Given the description of an element on the screen output the (x, y) to click on. 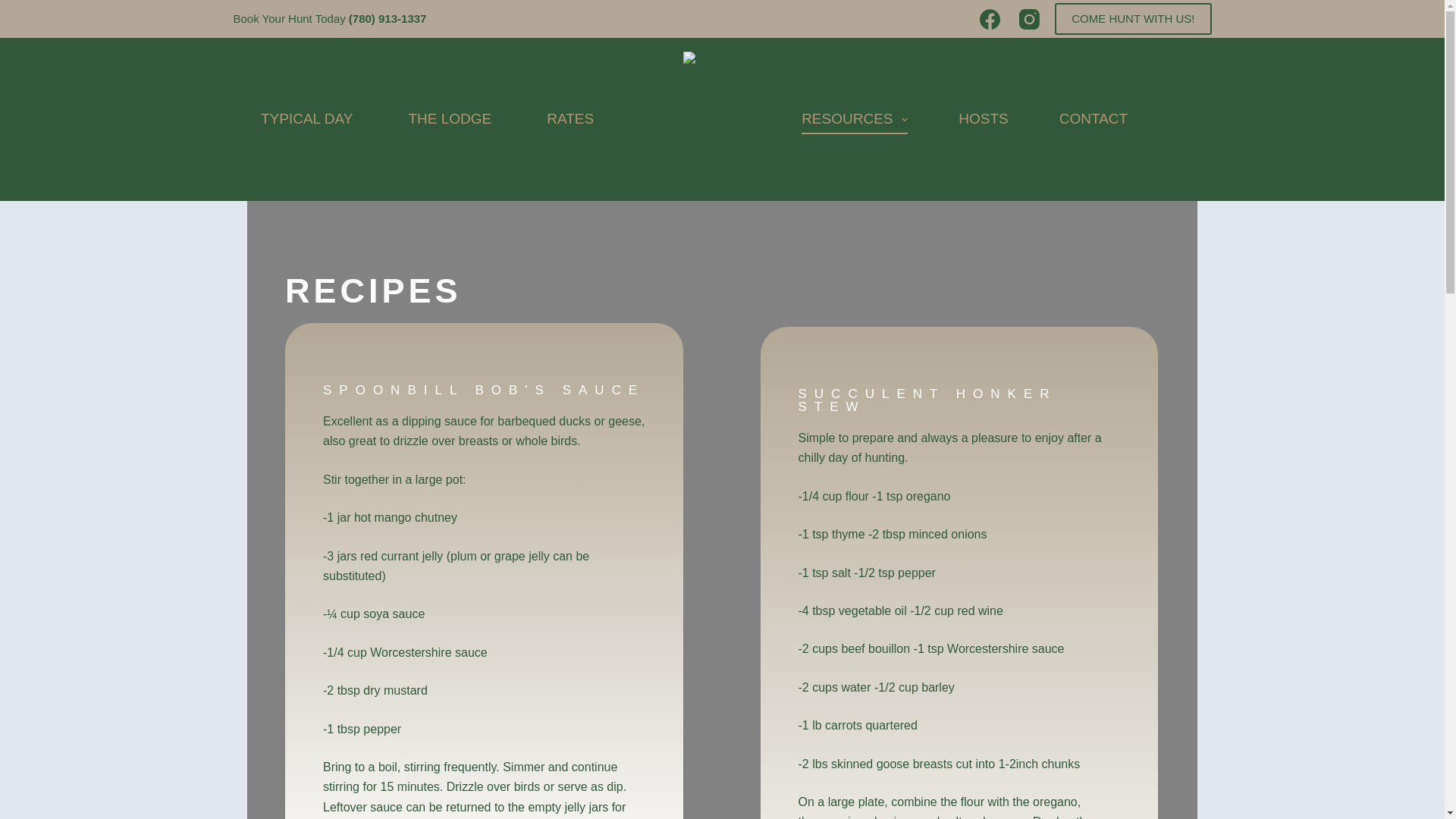
RATES (570, 119)
COME HUNT WITH US! (1132, 19)
THE LODGE (449, 119)
HOSTS (983, 119)
TYPICAL DAY (306, 119)
CONTACT (1093, 119)
Skip to content (15, 7)
RESOURCES (854, 119)
